Given the description of an element on the screen output the (x, y) to click on. 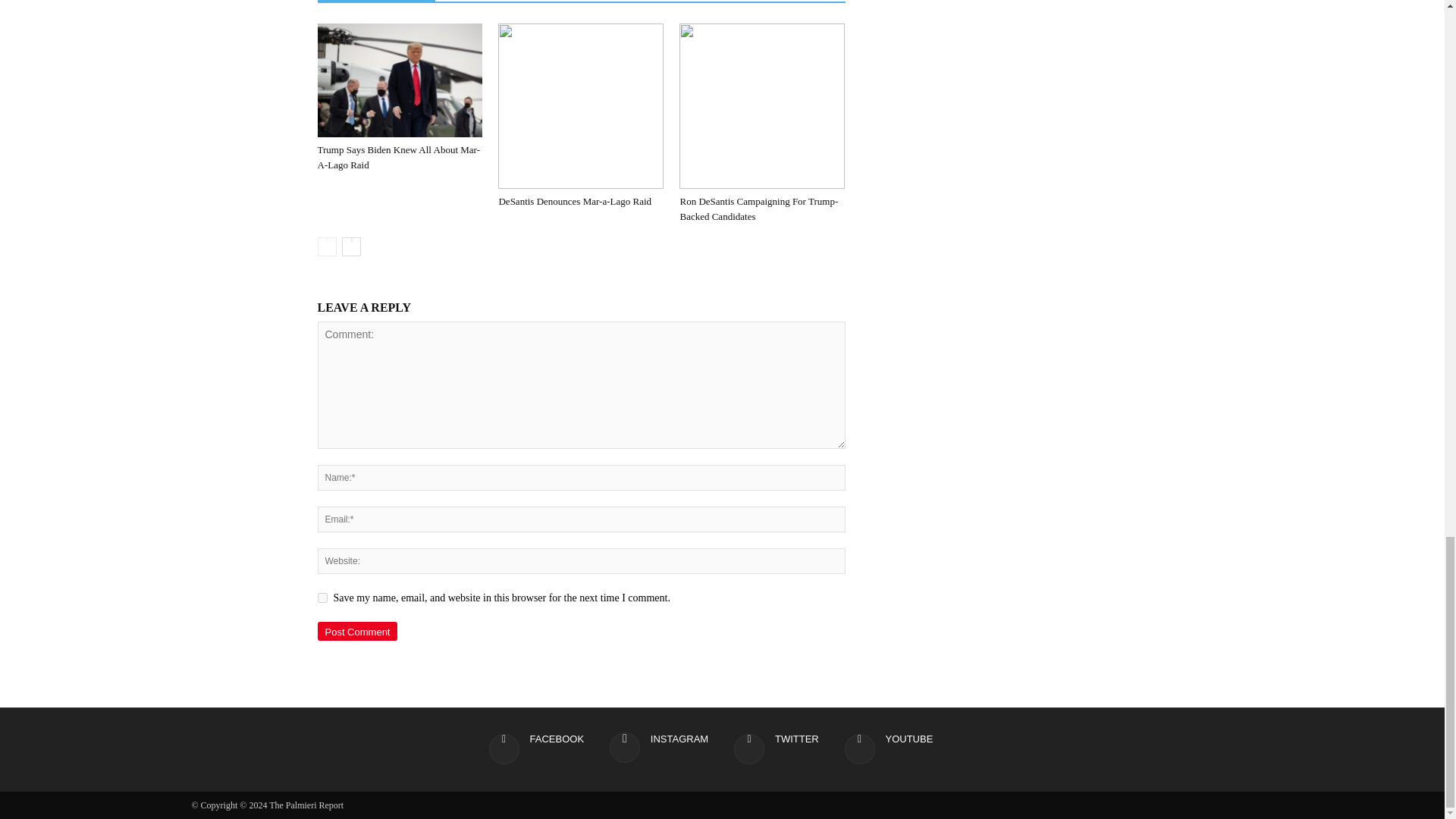
yes (321, 597)
Trump Says Biden Knew All About Mar-A-Lago Raid (399, 80)
Post Comment (357, 630)
